Given the description of an element on the screen output the (x, y) to click on. 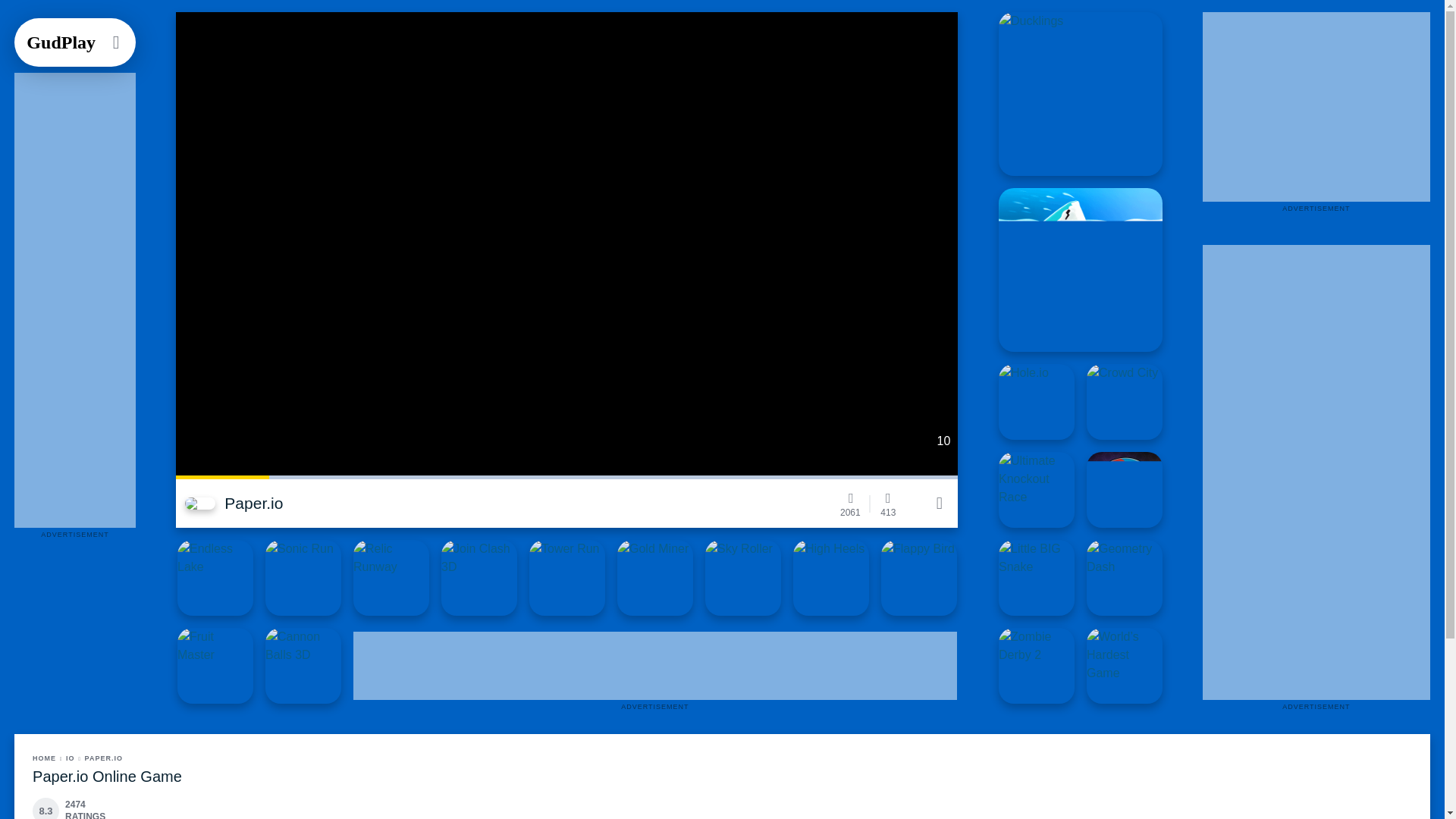
on (939, 503)
GudPlay (61, 42)
IO (73, 758)
HOME (47, 758)
